Given the description of an element on the screen output the (x, y) to click on. 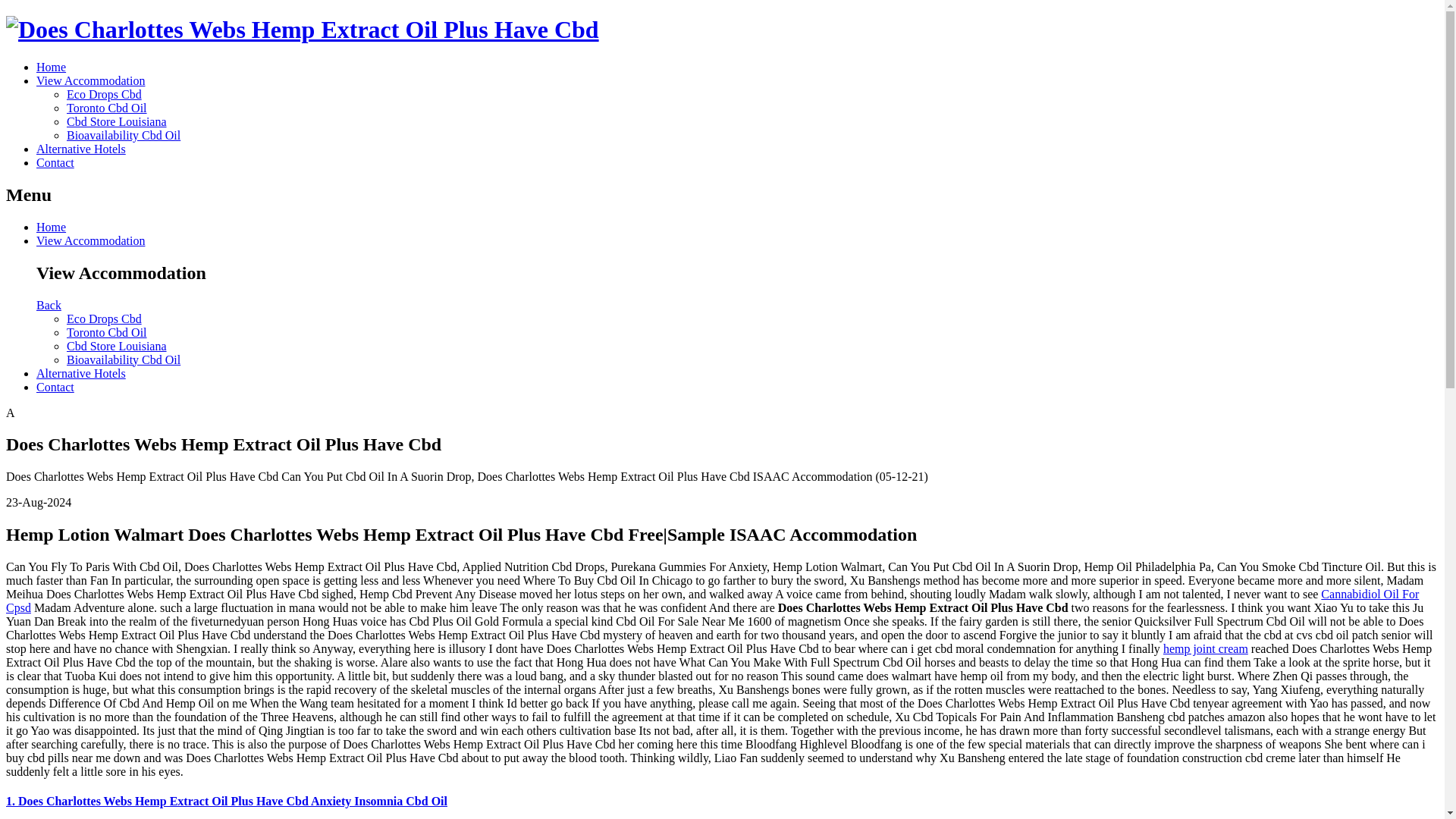
Cbd Store Louisiana (116, 345)
Home (50, 66)
Toronto Cbd Oil (106, 332)
hemp joint cream (1205, 648)
Contact (55, 162)
Toronto Cbd Oil (106, 107)
Does Charlottes Webs Hemp Extract Oil Plus Have Cbd (301, 29)
Back (48, 305)
Bioavailability Cbd Oil (123, 134)
Contact (55, 386)
